Given the description of an element on the screen output the (x, y) to click on. 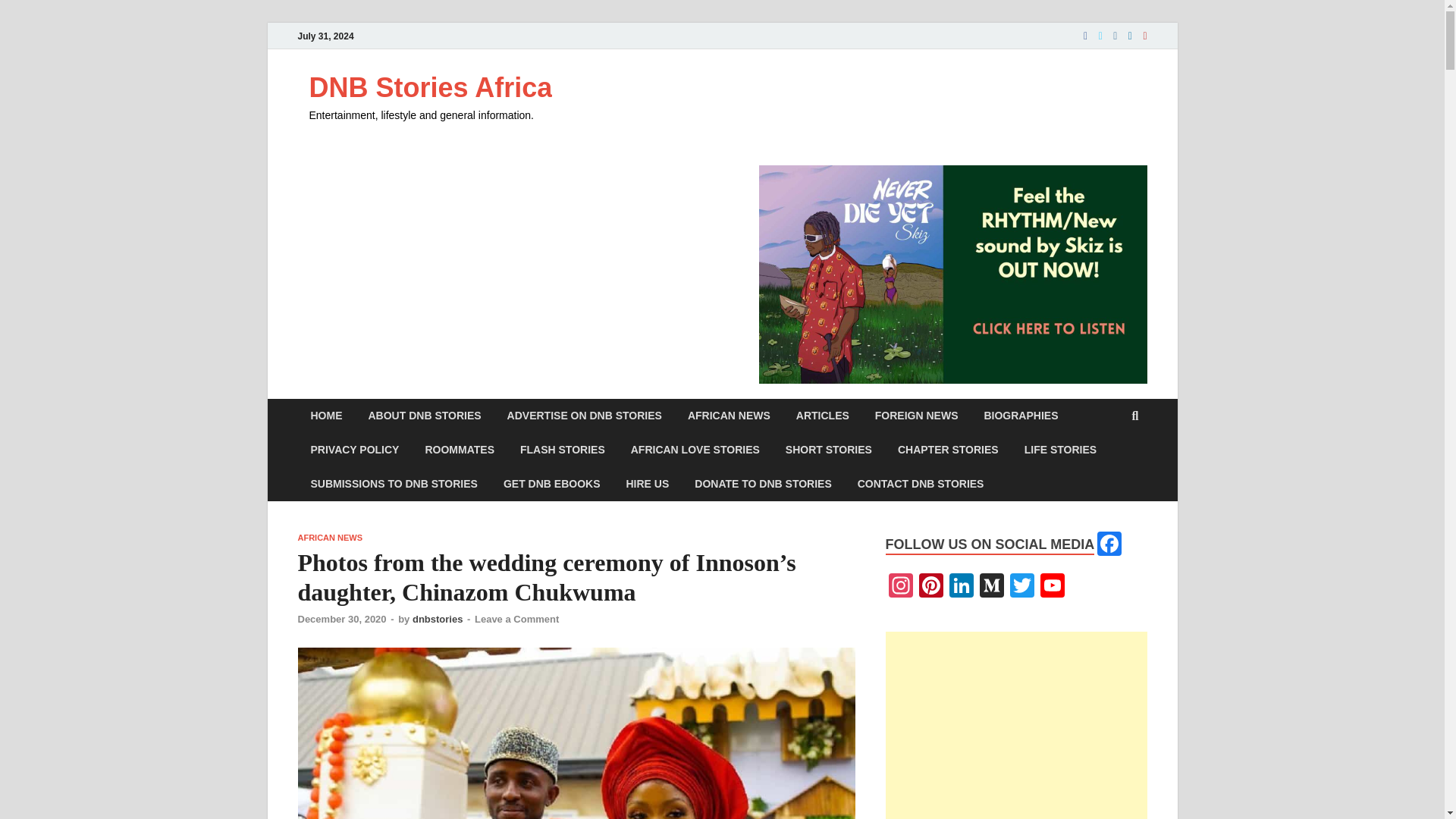
ADVERTISE ON DNB STORIES (585, 415)
ROOMMATES (459, 449)
December 30, 2020 (341, 618)
FOREIGN NEWS (916, 415)
HIRE US (646, 483)
CONTACT DNB STORIES (920, 483)
AFRICAN NEWS (329, 537)
SHORT STORIES (829, 449)
DNB Stories Africa (430, 87)
AFRICAN NEWS (729, 415)
ABOUT DNB STORIES (424, 415)
PRIVACY POLICY (354, 449)
CHAPTER STORIES (948, 449)
ARTICLES (822, 415)
LIFE STORIES (1060, 449)
